Given the description of an element on the screen output the (x, y) to click on. 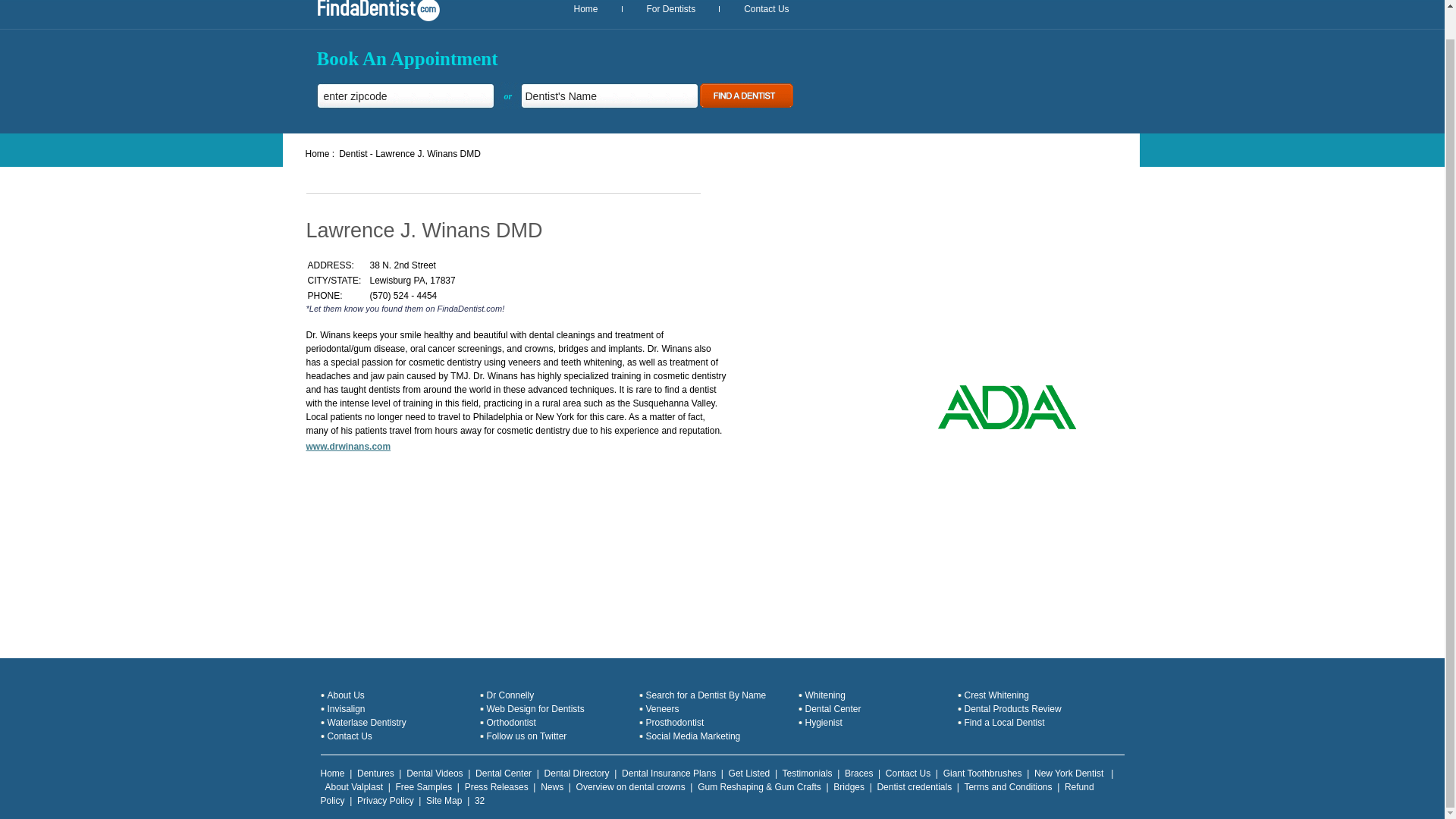
Contact Us (907, 773)
Veneers (662, 708)
For Dentists (670, 9)
Dental Directory (577, 773)
Hygienist (824, 722)
Dental Center (503, 773)
Follow us on Twitter (526, 736)
Testimonials (807, 773)
Invisalign (346, 708)
Social Media Marketing (693, 736)
Contact Us (349, 736)
Search for a Dentist By Name (706, 695)
Prosthodontist (675, 722)
enter zipcode (406, 96)
Dentures (375, 773)
